Given the description of an element on the screen output the (x, y) to click on. 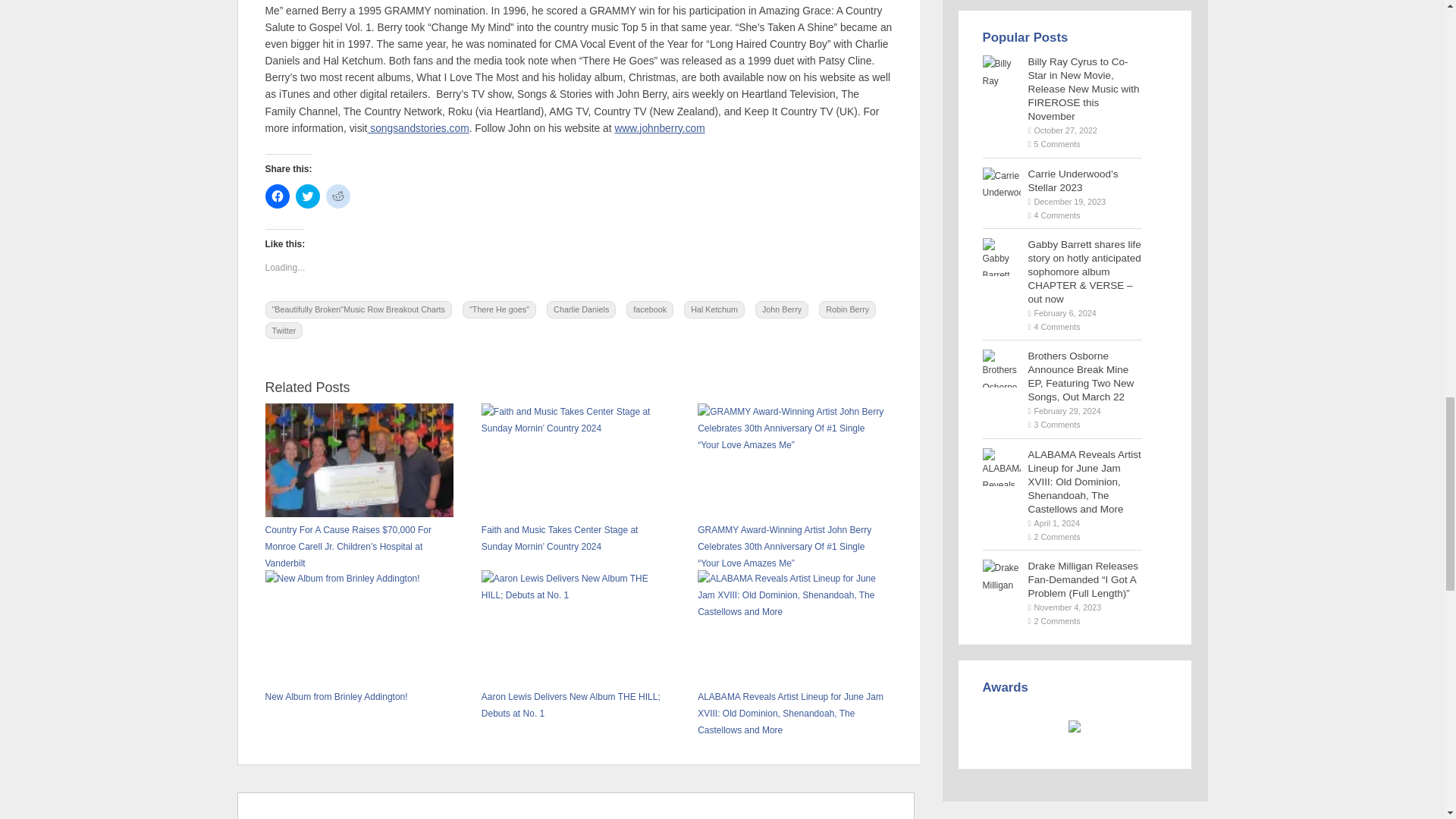
Click to share on Twitter (307, 196)
Click to share on Facebook (276, 196)
Click to share on Reddit (338, 196)
